Given the description of an element on the screen output the (x, y) to click on. 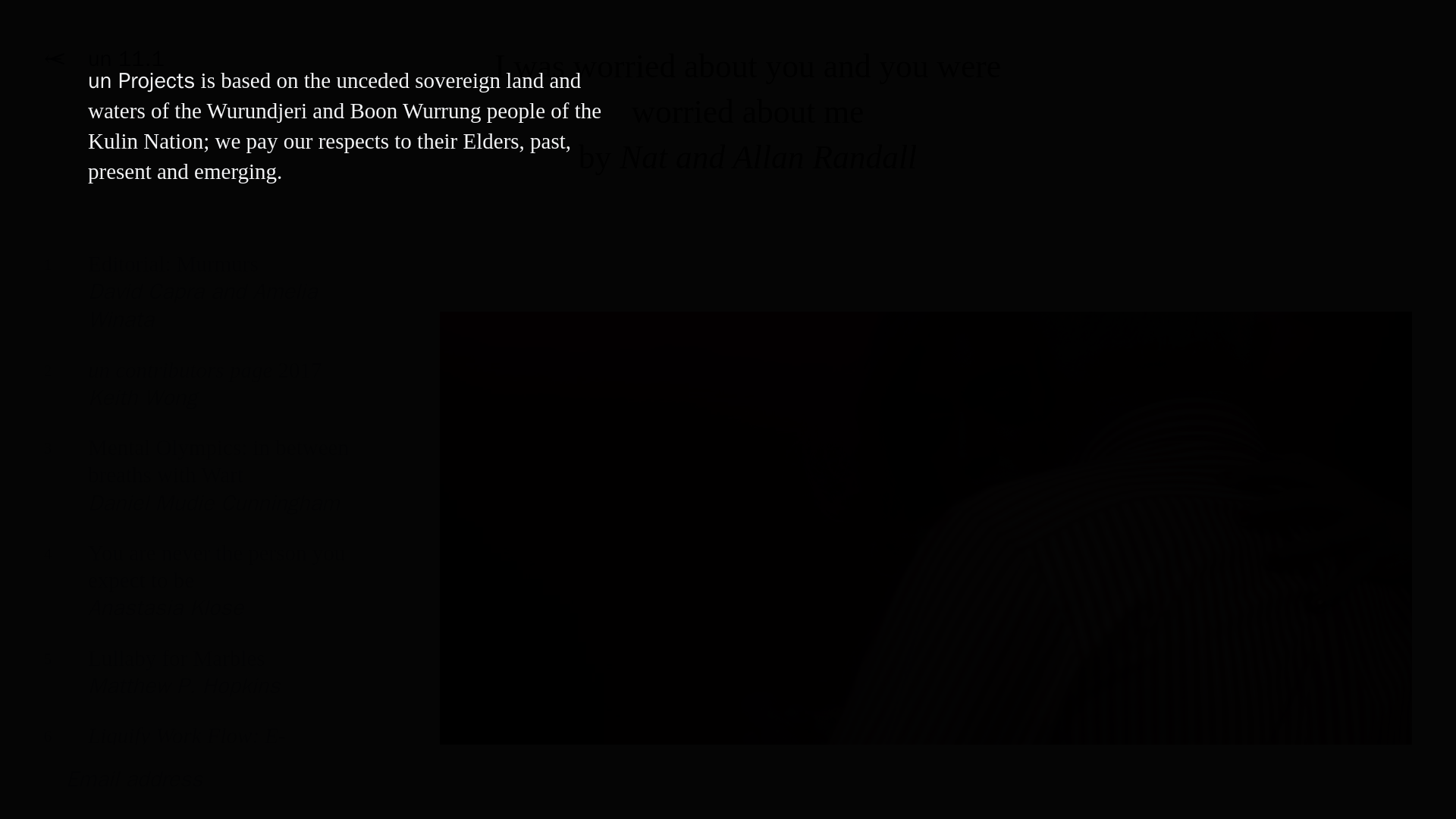
Posts by Nat and Allan Randall (768, 156)
Nat and Allan Randall (197, 591)
